Given the description of an element on the screen output the (x, y) to click on. 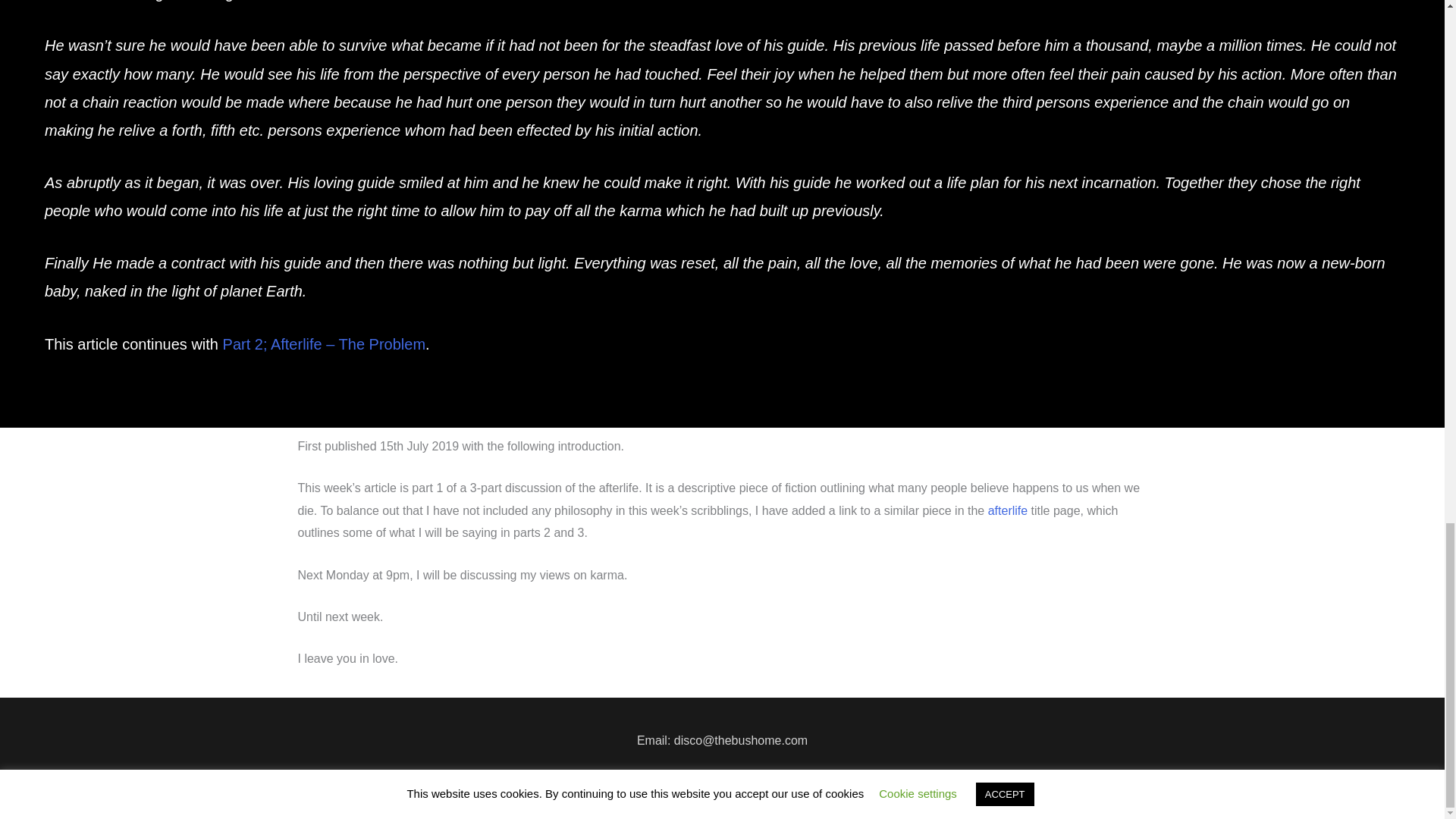
afterlife (1007, 510)
